Given the description of an element on the screen output the (x, y) to click on. 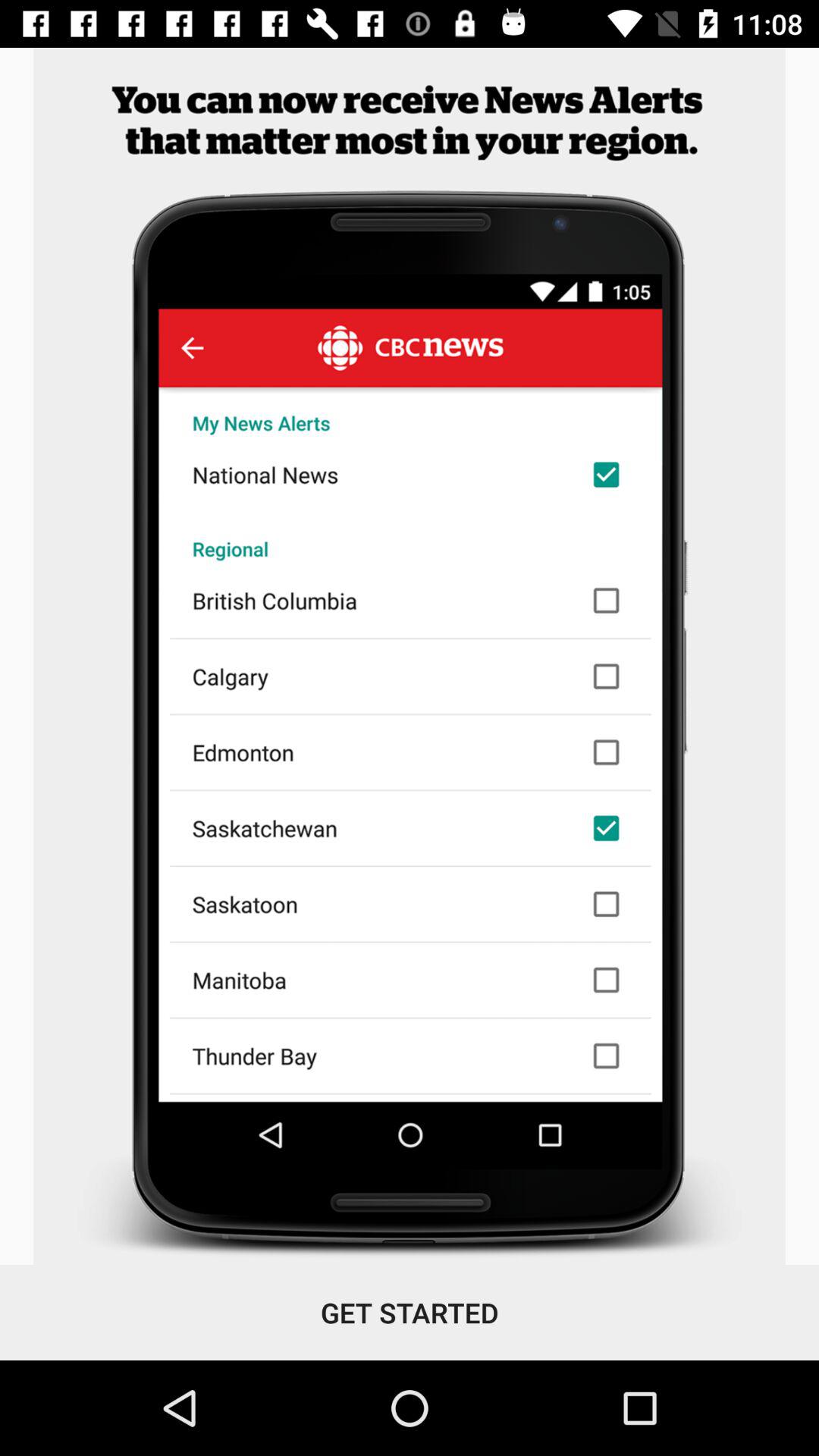
tap get started (409, 1312)
